Given the description of an element on the screen output the (x, y) to click on. 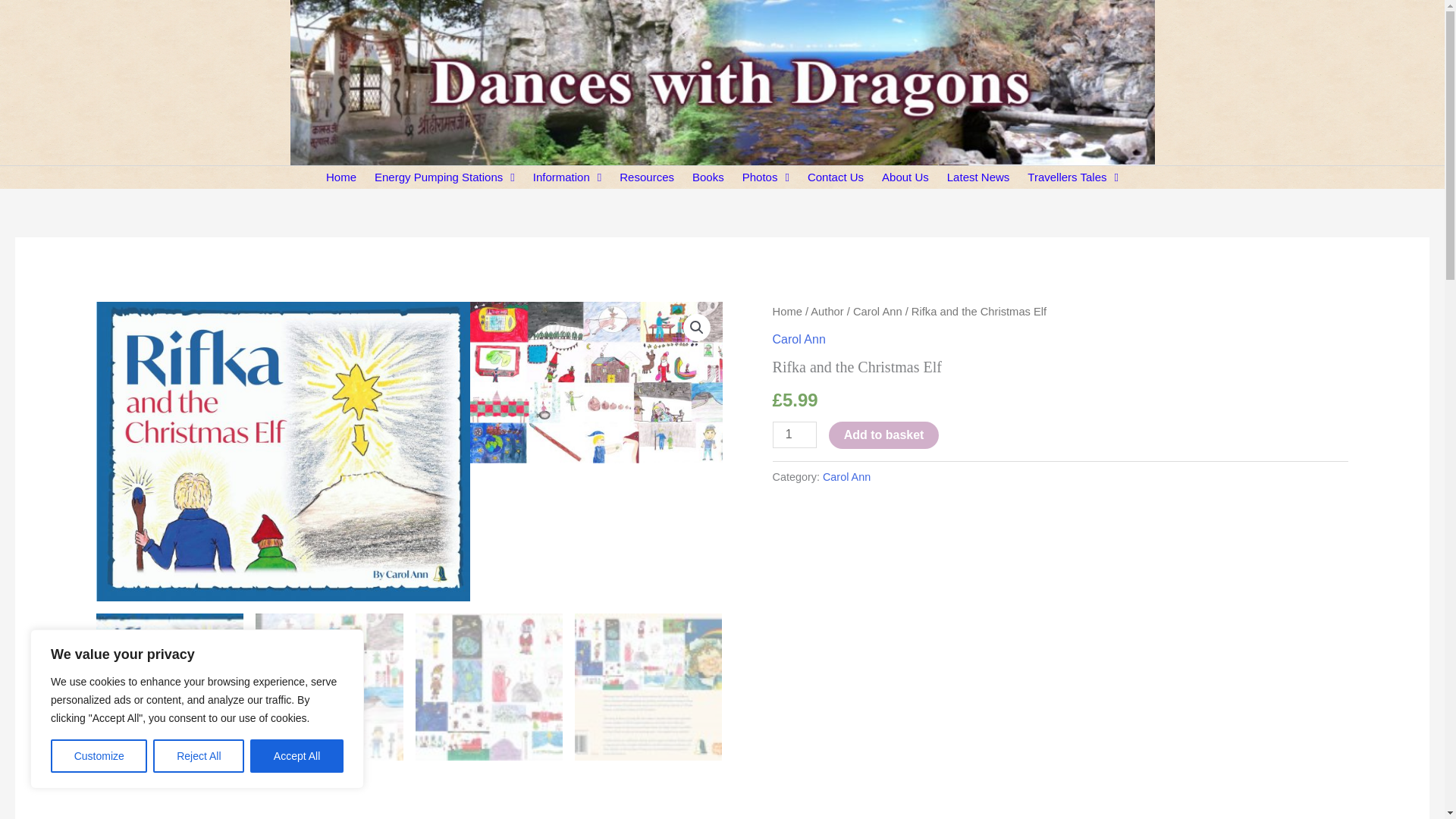
Information (567, 177)
Accept All (296, 756)
Customize (98, 756)
9781902235028 resized (283, 451)
1 (794, 434)
Reject All (198, 756)
Home (341, 177)
Rifka winning pictures Collage - resized (657, 382)
Energy Pumping Stations (444, 177)
